Given the description of an element on the screen output the (x, y) to click on. 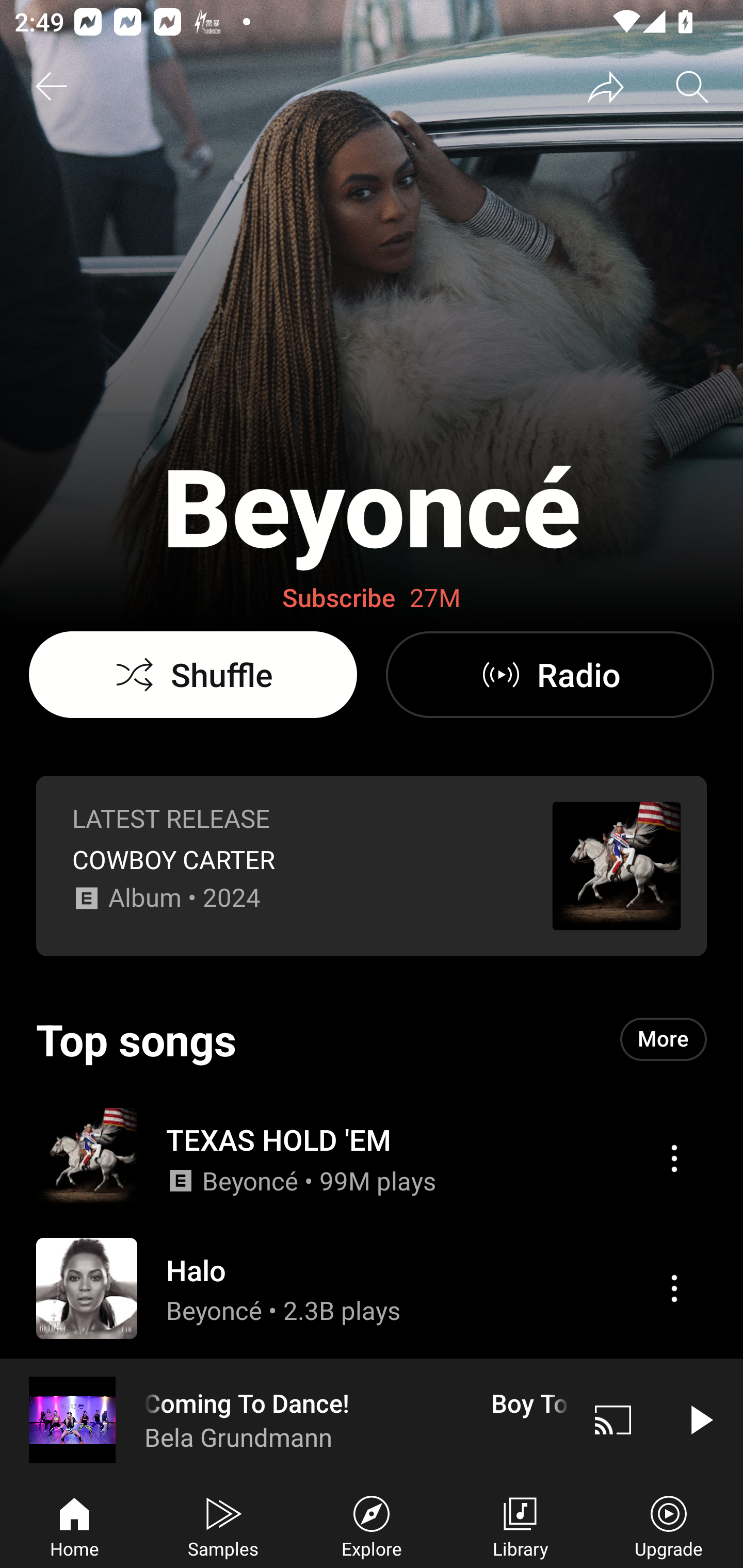
Back (50, 86)
Share (605, 86)
Search (692, 86)
Subscribe 27M (371, 598)
Shuffle (192, 674)
Radio (549, 674)
Action menu (371, 1157)
Action menu (673, 1158)
Action menu (371, 1288)
Action menu (673, 1288)
Cast. Disconnected (612, 1419)
Play video (699, 1419)
Home (74, 1524)
Samples (222, 1524)
Explore (371, 1524)
Library (519, 1524)
Upgrade (668, 1524)
